Given the description of an element on the screen output the (x, y) to click on. 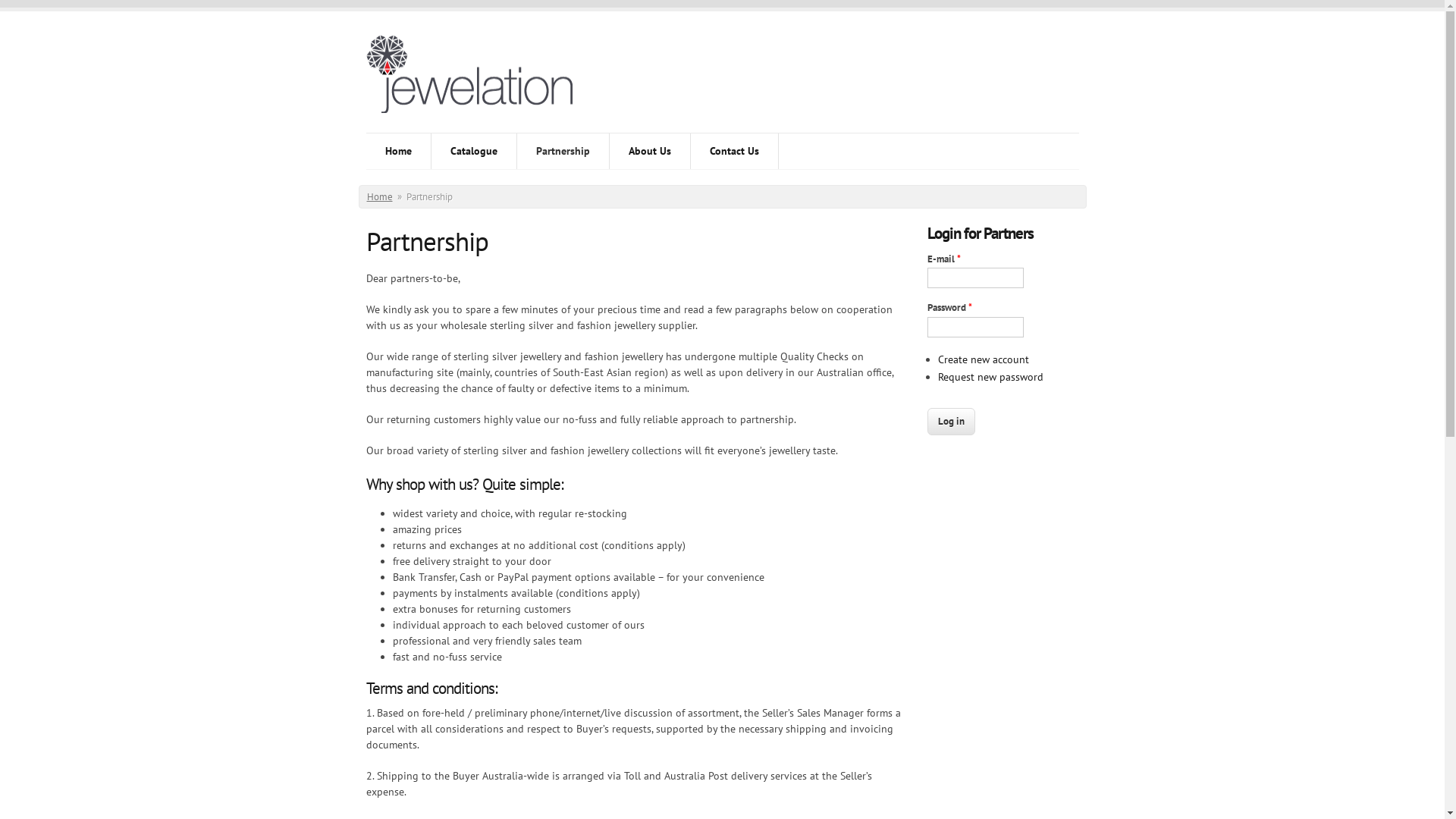
Catalogue Element type: text (472, 151)
About Us Element type: text (649, 151)
Contact Us Element type: text (733, 151)
Skip to main content Element type: text (48, 7)
Home Element type: hover (479, 83)
Log in Element type: text (950, 421)
Create new account Element type: text (982, 359)
Partnership Element type: text (562, 151)
Home Element type: text (397, 151)
Home Element type: text (379, 196)
Request new password Element type: text (989, 376)
